Given the description of an element on the screen output the (x, y) to click on. 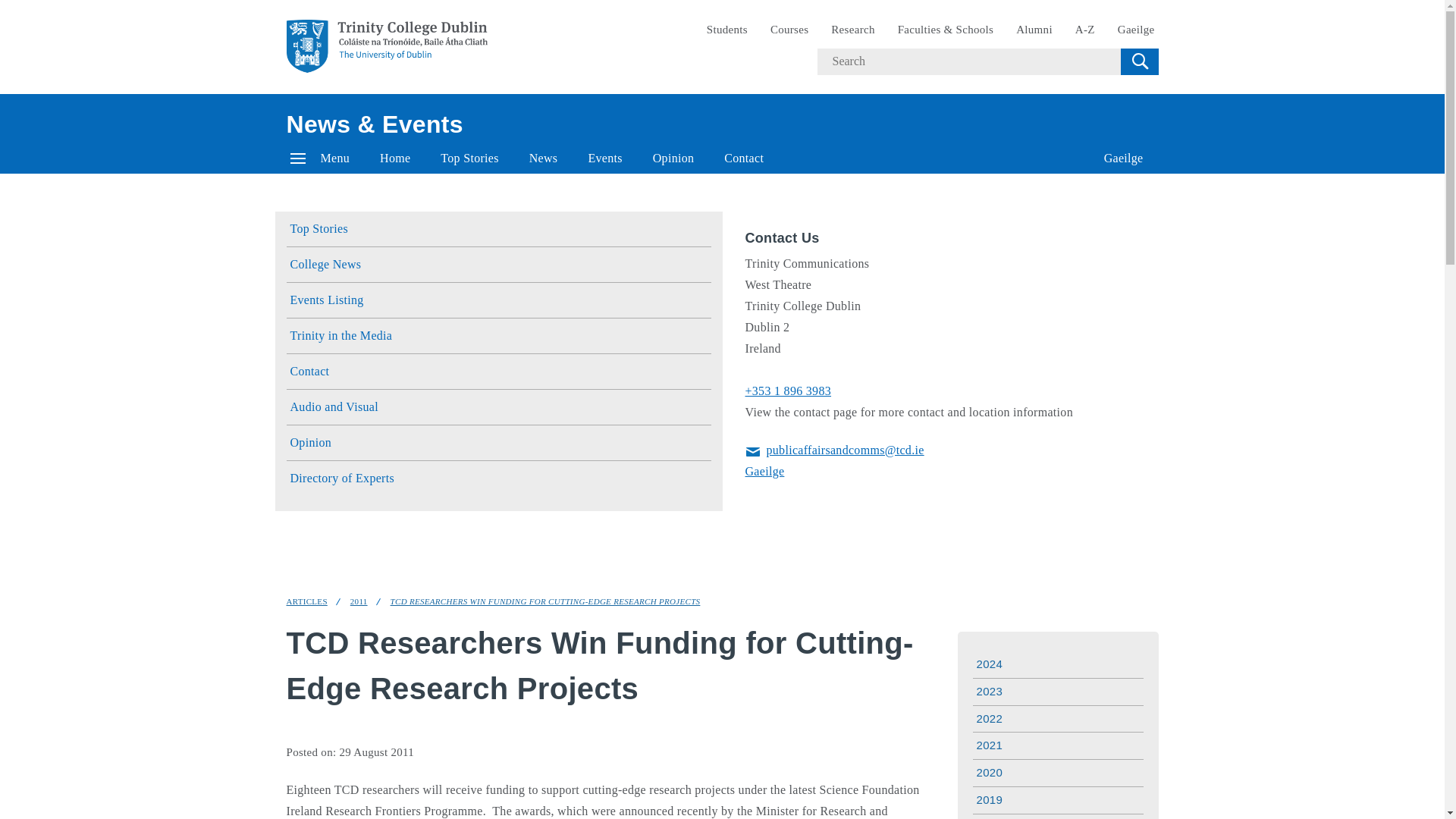
Top Stories (498, 229)
Opinion (498, 443)
Gaeilge (764, 471)
Alumni (1034, 29)
Directory of Experts (498, 478)
Students (727, 29)
Contact (498, 371)
Menu (320, 158)
Events Listing (498, 300)
A-Z (1085, 29)
ARTICLES (306, 601)
Trinity in the Media (498, 335)
Events (604, 158)
Research (852, 29)
Top Stories (469, 158)
